Given the description of an element on the screen output the (x, y) to click on. 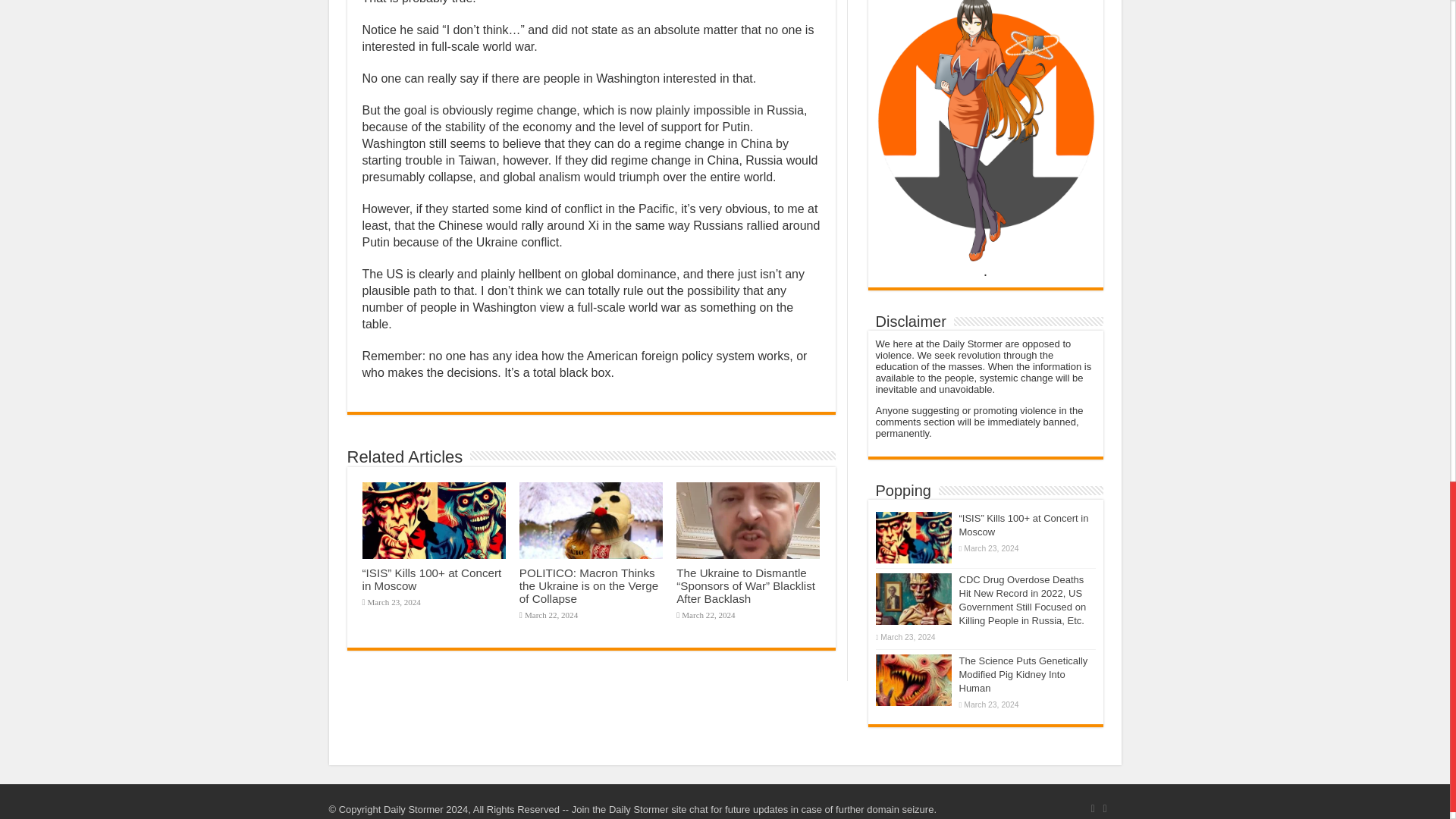
Send Monero today! (984, 67)
